Given the description of an element on the screen output the (x, y) to click on. 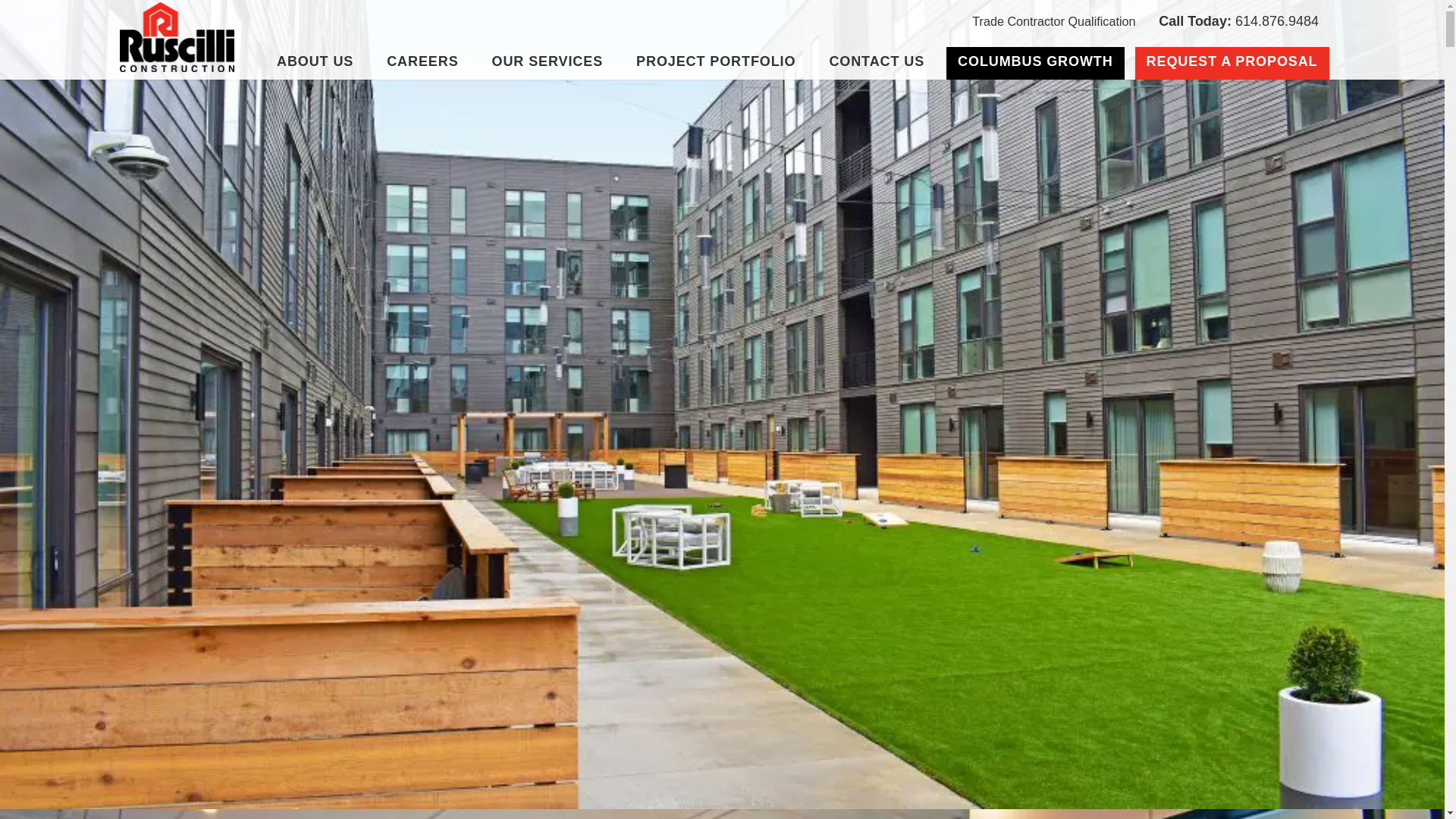
Trade Contractor Qualification (1053, 20)
CONTACT US (876, 62)
CAREERS (421, 62)
REQUEST A PROPOSAL (1232, 62)
Ruscilli Construction Co., Inc. (176, 37)
PROJECT PORTFOLIO (715, 62)
COLUMBUS GROWTH (1035, 62)
ABOUT US (314, 62)
614.876.9484 (1238, 21)
OUR SERVICES (547, 62)
